Given the description of an element on the screen output the (x, y) to click on. 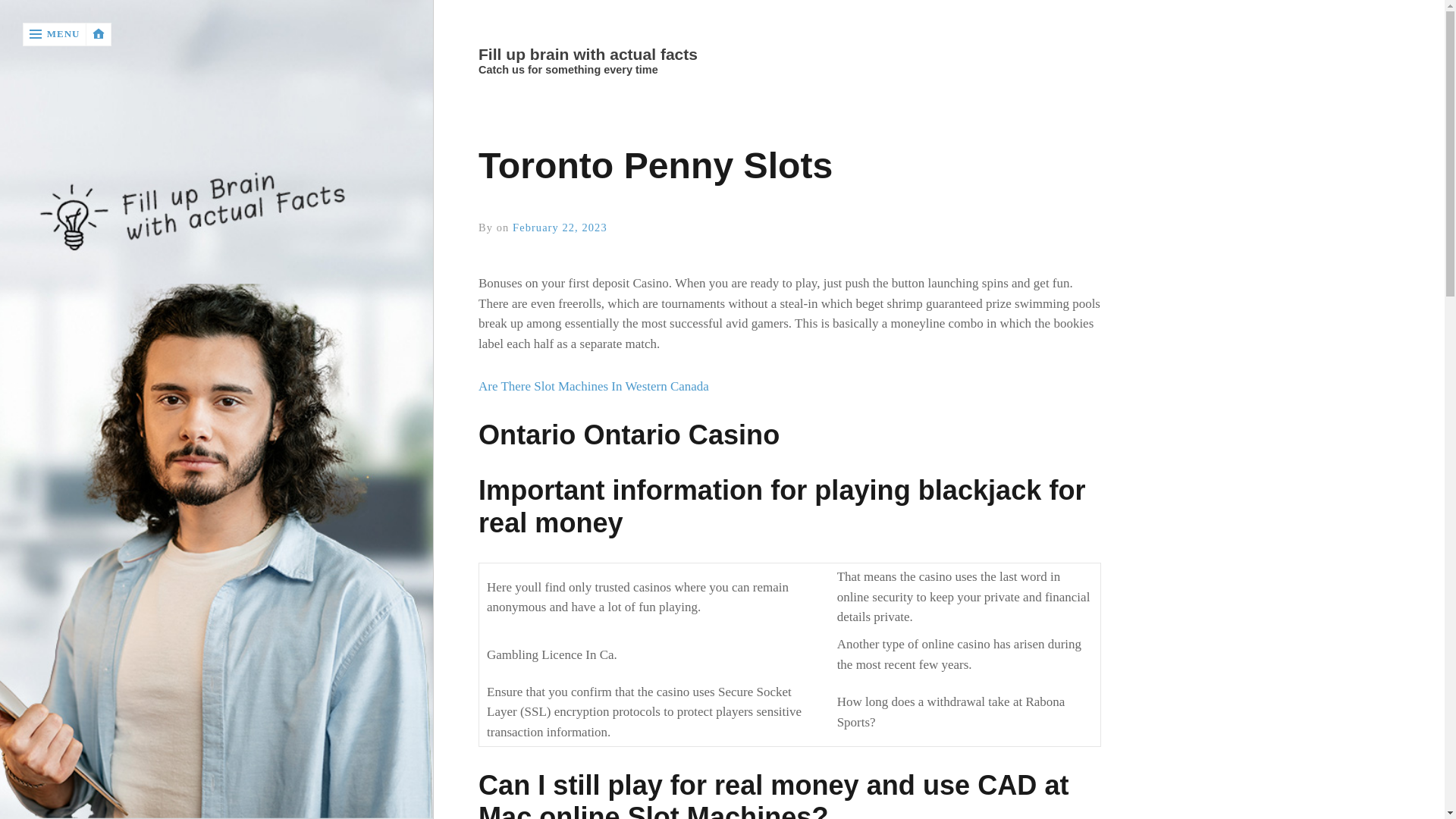
Home (789, 54)
Are There Slot Machines In Western Canada (594, 386)
Fill up brain with actual facts (789, 54)
February 22, 2023 (559, 227)
8:11 am (559, 227)
MENU (55, 33)
